Given the description of an element on the screen output the (x, y) to click on. 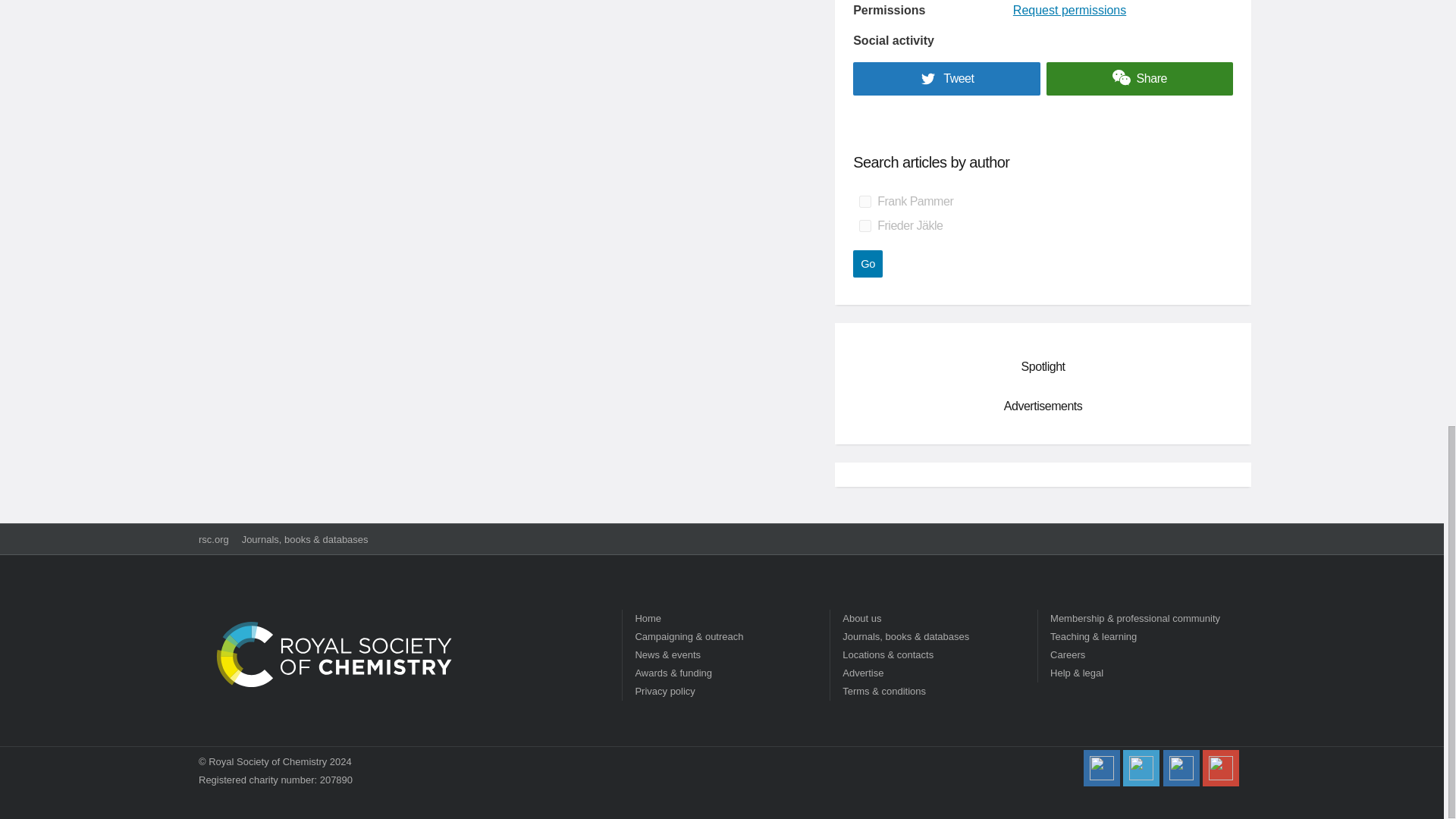
Go (867, 263)
Go (867, 263)
on (864, 201)
Request permissions (1068, 10)
on (864, 225)
